Given the description of an element on the screen output the (x, y) to click on. 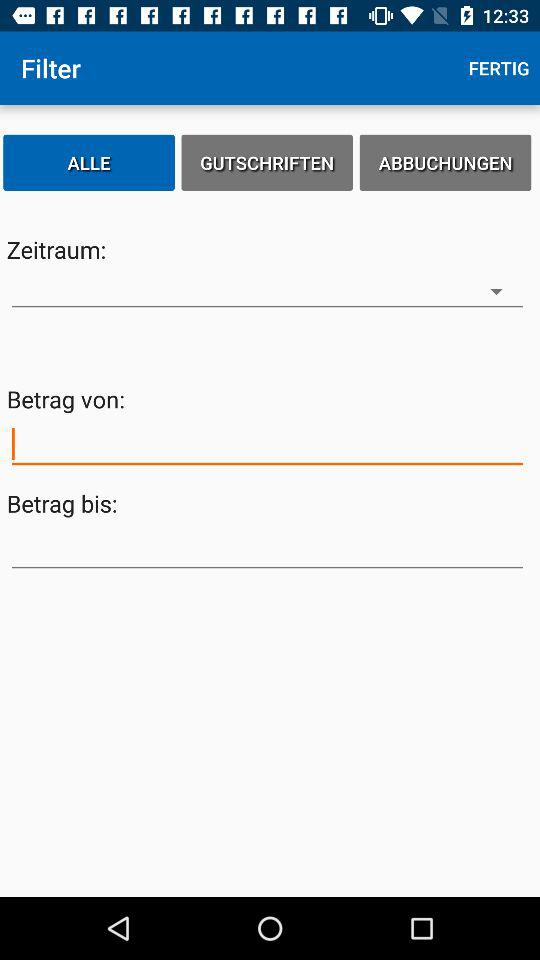
launch the icon below fertig icon (445, 162)
